Given the description of an element on the screen output the (x, y) to click on. 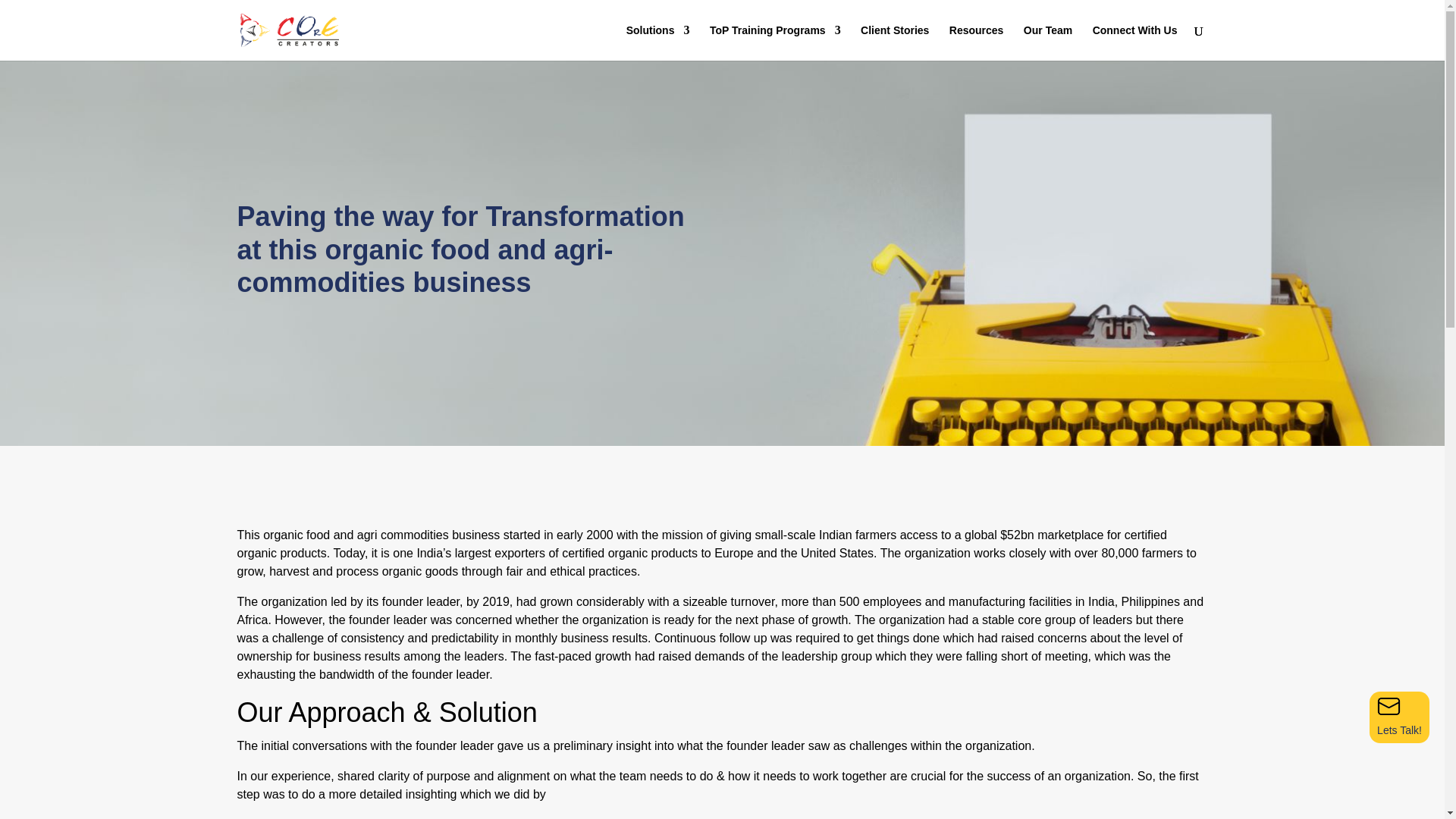
Client Stories (894, 42)
ToP Training Programs (775, 42)
Resources (976, 42)
Solutions (658, 42)
Connect With Us (1135, 42)
Our Team (1047, 42)
